Given the description of an element on the screen output the (x, y) to click on. 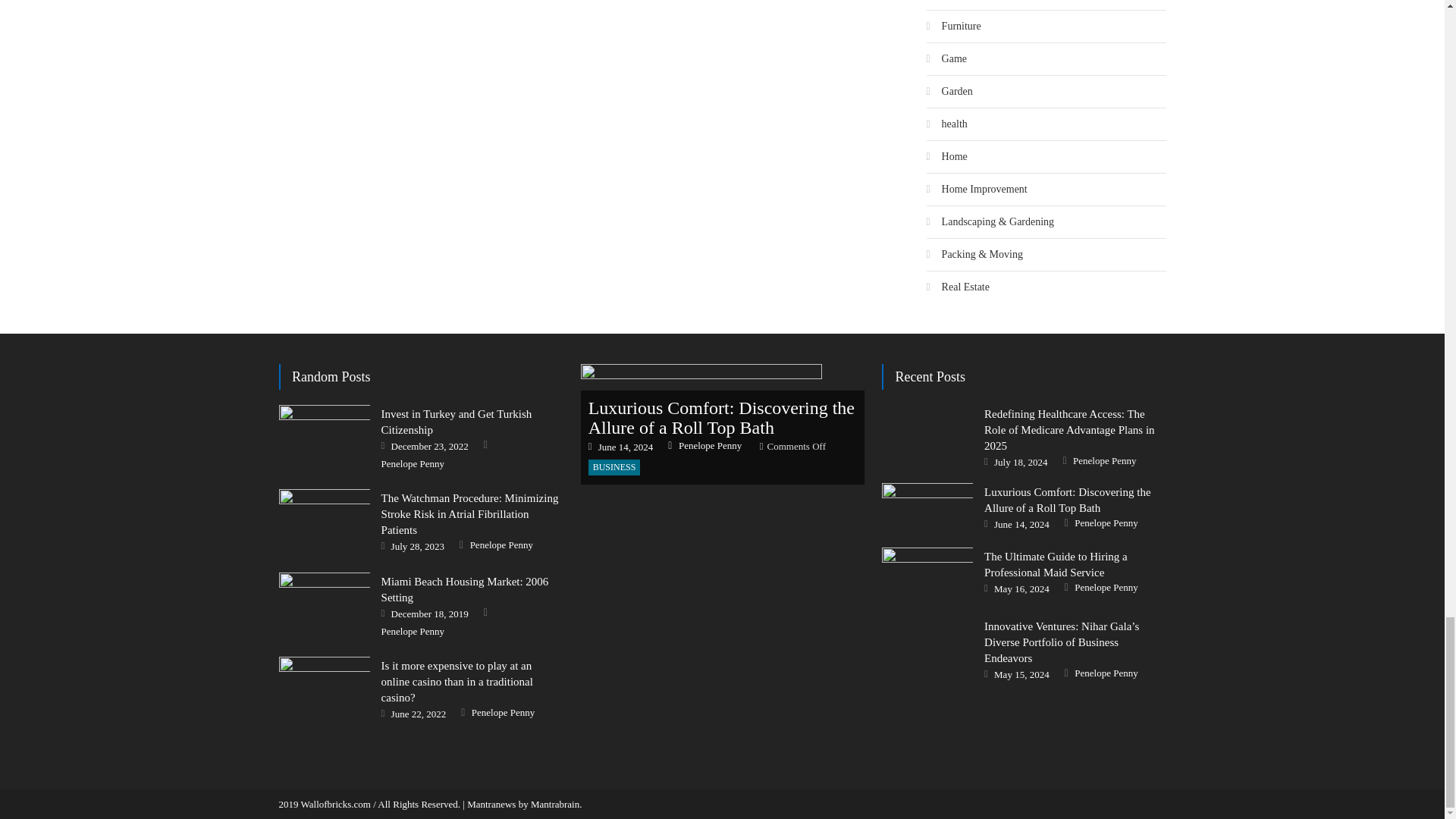
The Ultimate Guide to Hiring a Professional Maid Service (927, 572)
Invest in Turkey and Get Turkish Citizenship (324, 436)
Miami Beach Housing Market: 2006 Setting (324, 604)
Luxurious Comfort: Discovering the Allure of a Roll Top Bath (722, 423)
Luxurious Comfort: Discovering the Allure of a Roll Top Bath (927, 505)
